Given the description of an element on the screen output the (x, y) to click on. 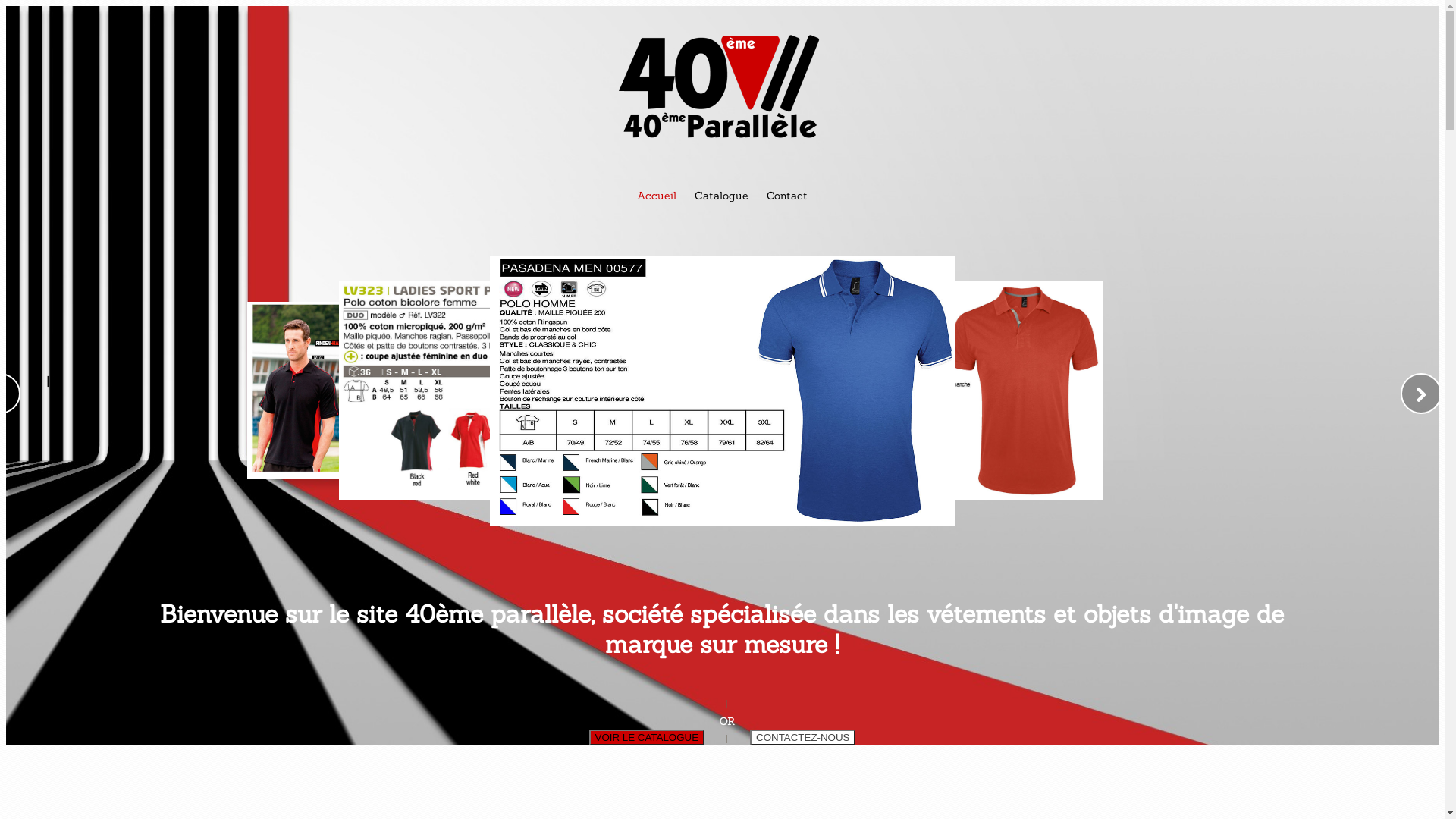
CONTACTEZ-NOUS Element type: text (802, 737)
Contact Element type: text (786, 195)
Next Element type: text (1420, 393)
CONTACTEZ-NOUS Element type: text (802, 735)
VOIR LE CATALOGUE Element type: text (647, 737)
VOIR LE CATALOGUE Element type: text (647, 735)
Accueil Element type: text (656, 195)
Catalogue Element type: text (721, 195)
